Given the description of an element on the screen output the (x, y) to click on. 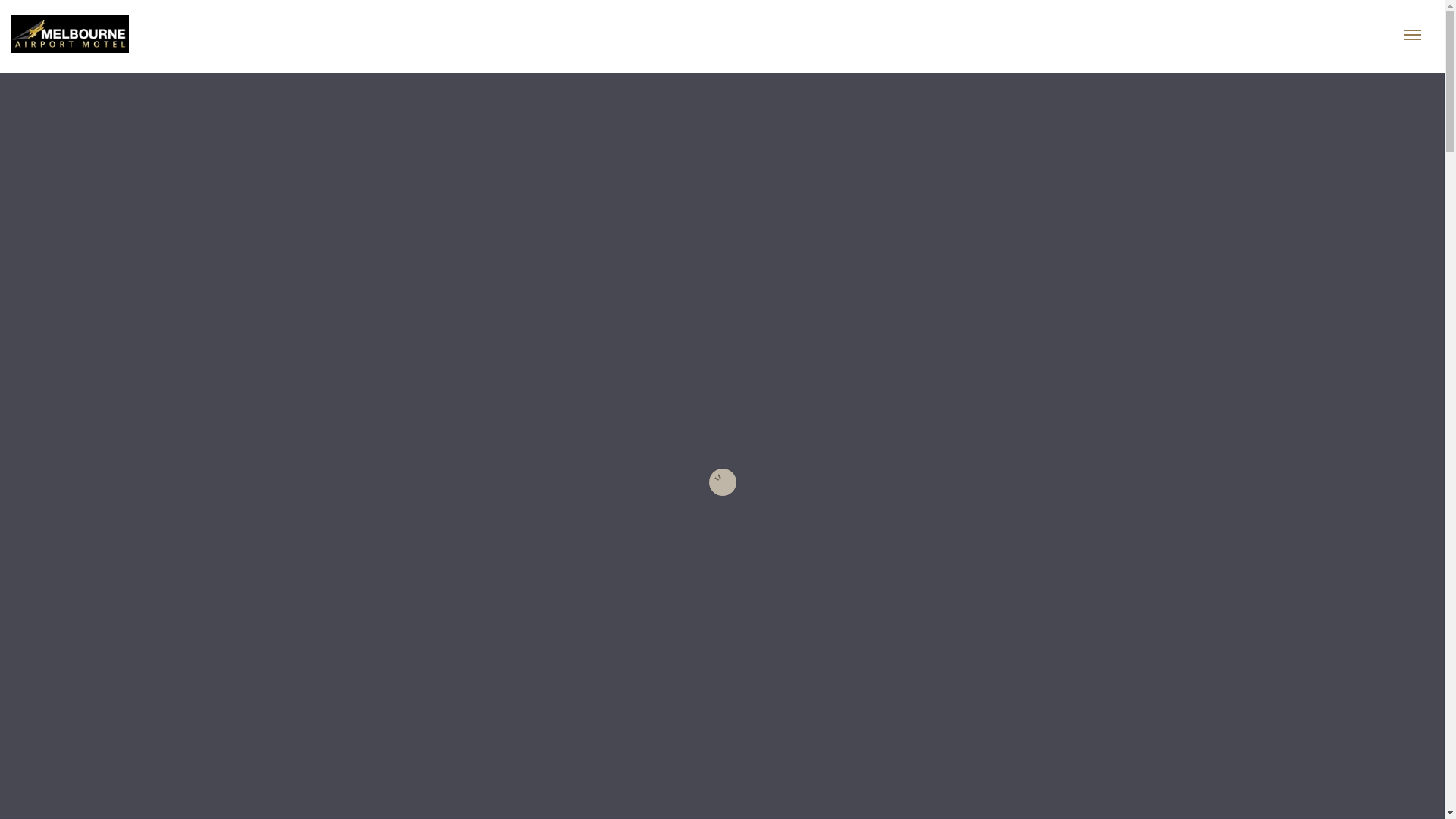
Melbourne Airport Motel Element type: hover (120, 34)
